Given the description of an element on the screen output the (x, y) to click on. 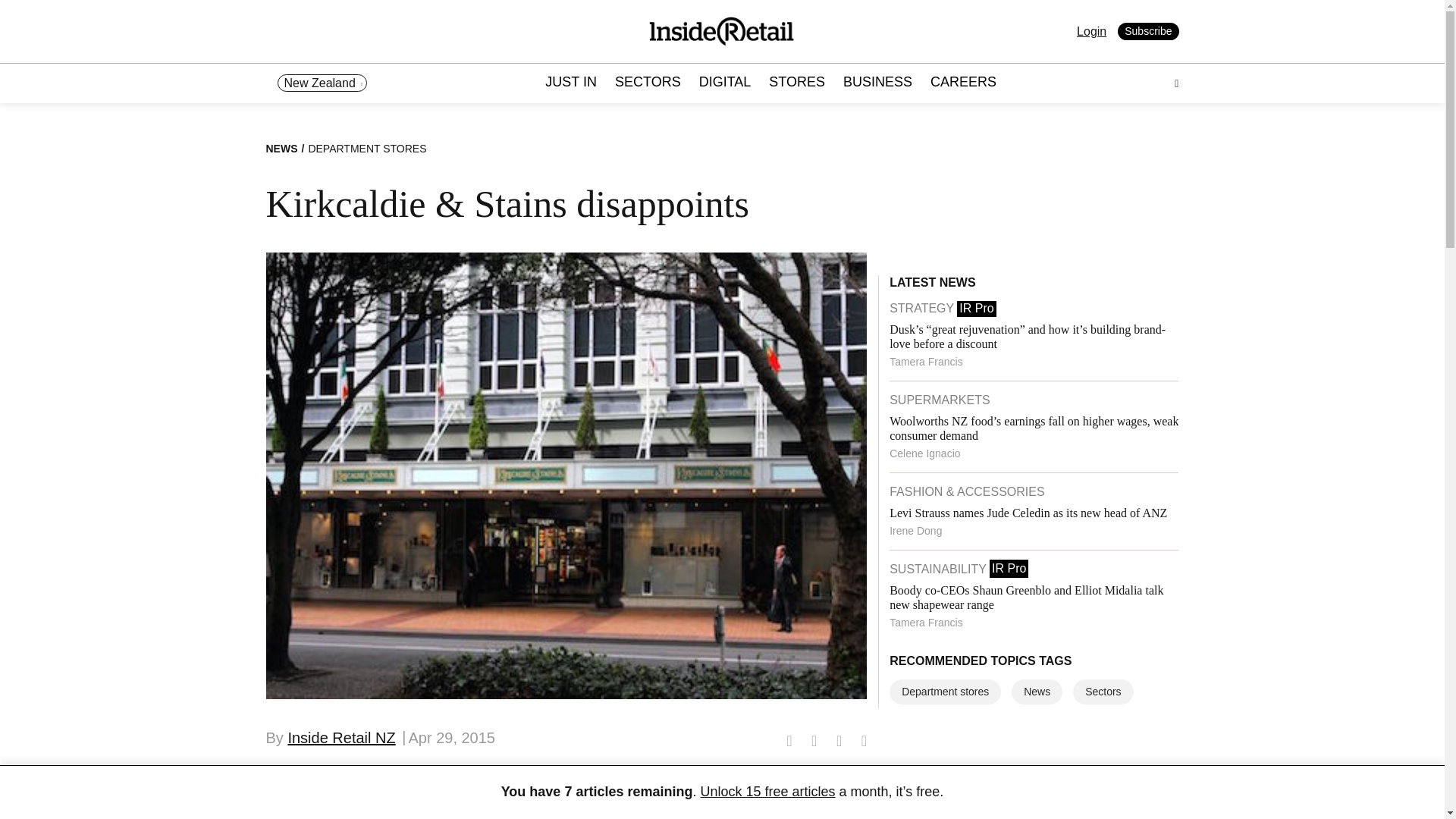
JUST IN (570, 83)
SECTORS (647, 83)
Subscribe (1147, 31)
Department stores (945, 691)
New Zealand (322, 82)
Sectors (1102, 691)
DIGITAL (725, 83)
News (1036, 691)
Login (1091, 31)
